Given the description of an element on the screen output the (x, y) to click on. 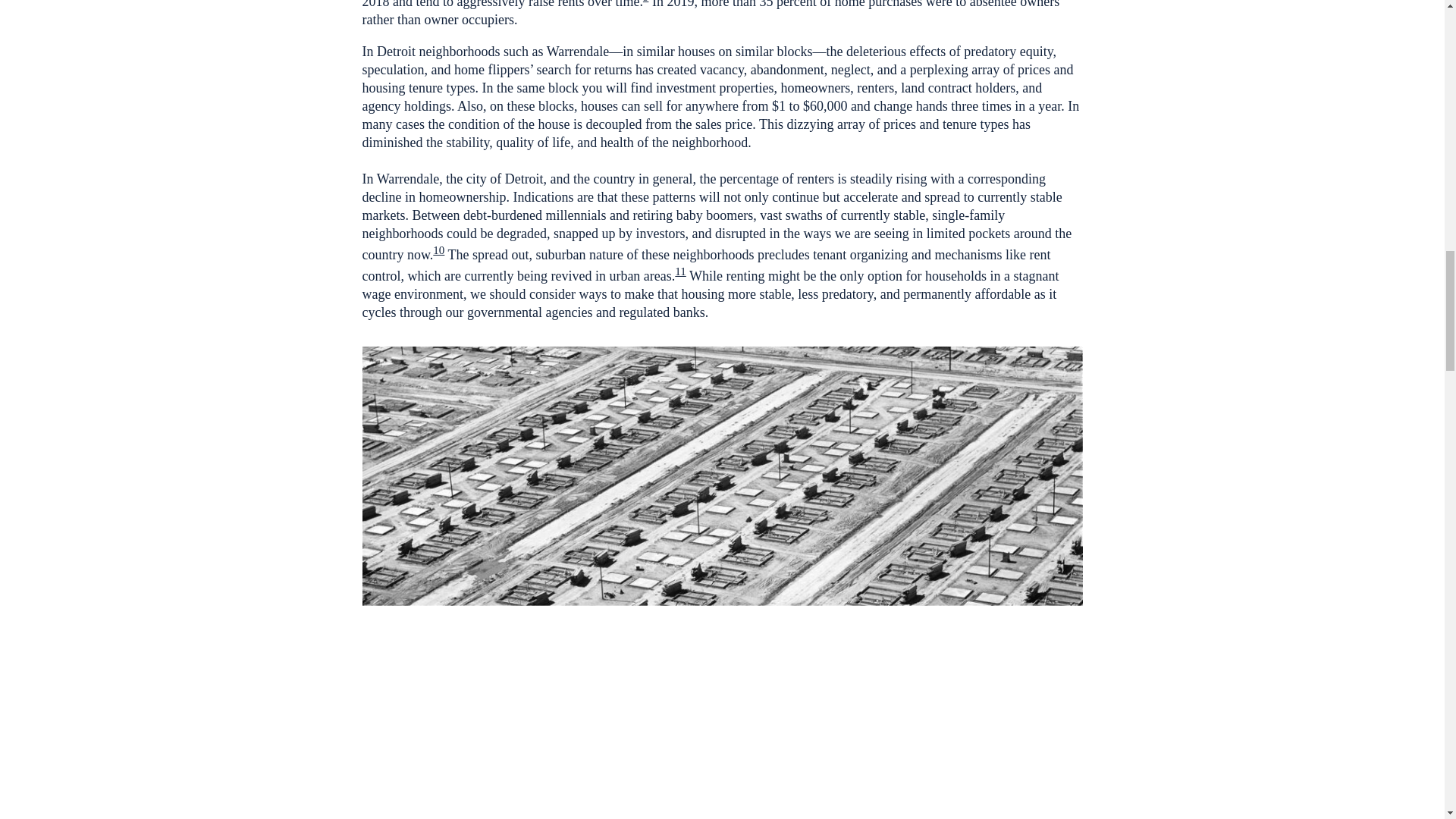
10 (438, 250)
